Given the description of an element on the screen output the (x, y) to click on. 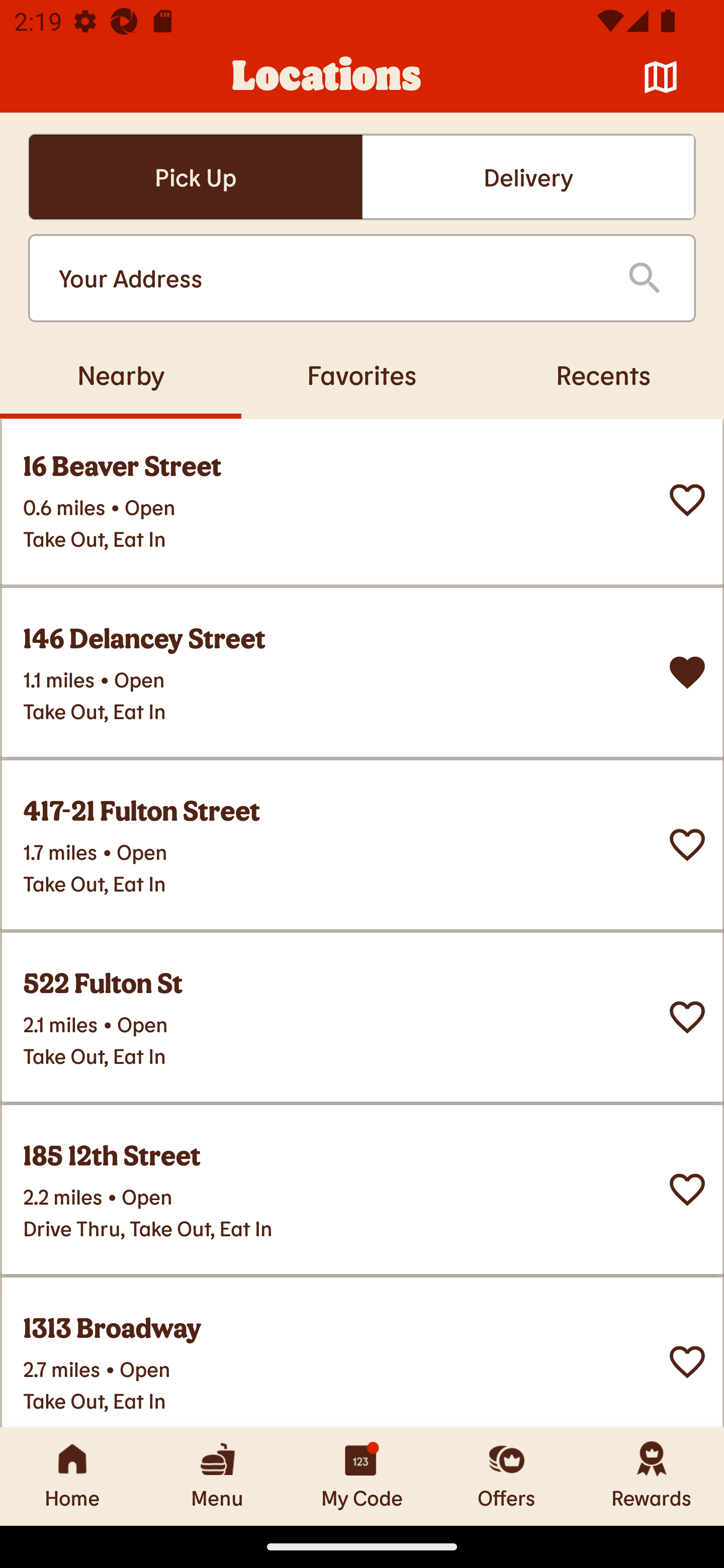
Map 󰦂 (660, 77)
Locations (326, 77)
Pick UpSelected Pick UpSelected Pick Up (195, 176)
Delivery Delivery Delivery (528, 176)
Your Address (327, 277)
Nearby (120, 374)
Favorites (361, 374)
Recents (603, 374)
Set this restaurant as a favorite  (687, 499)
Remove from Favorites?  (687, 671)
Set this restaurant as a favorite  (687, 844)
Set this restaurant as a favorite  (687, 1016)
Set this restaurant as a favorite  (687, 1189)
Set this restaurant as a favorite  (687, 1361)
Home (72, 1475)
Menu (216, 1475)
My Code (361, 1475)
Offers (506, 1475)
Rewards (651, 1475)
